Given the description of an element on the screen output the (x, y) to click on. 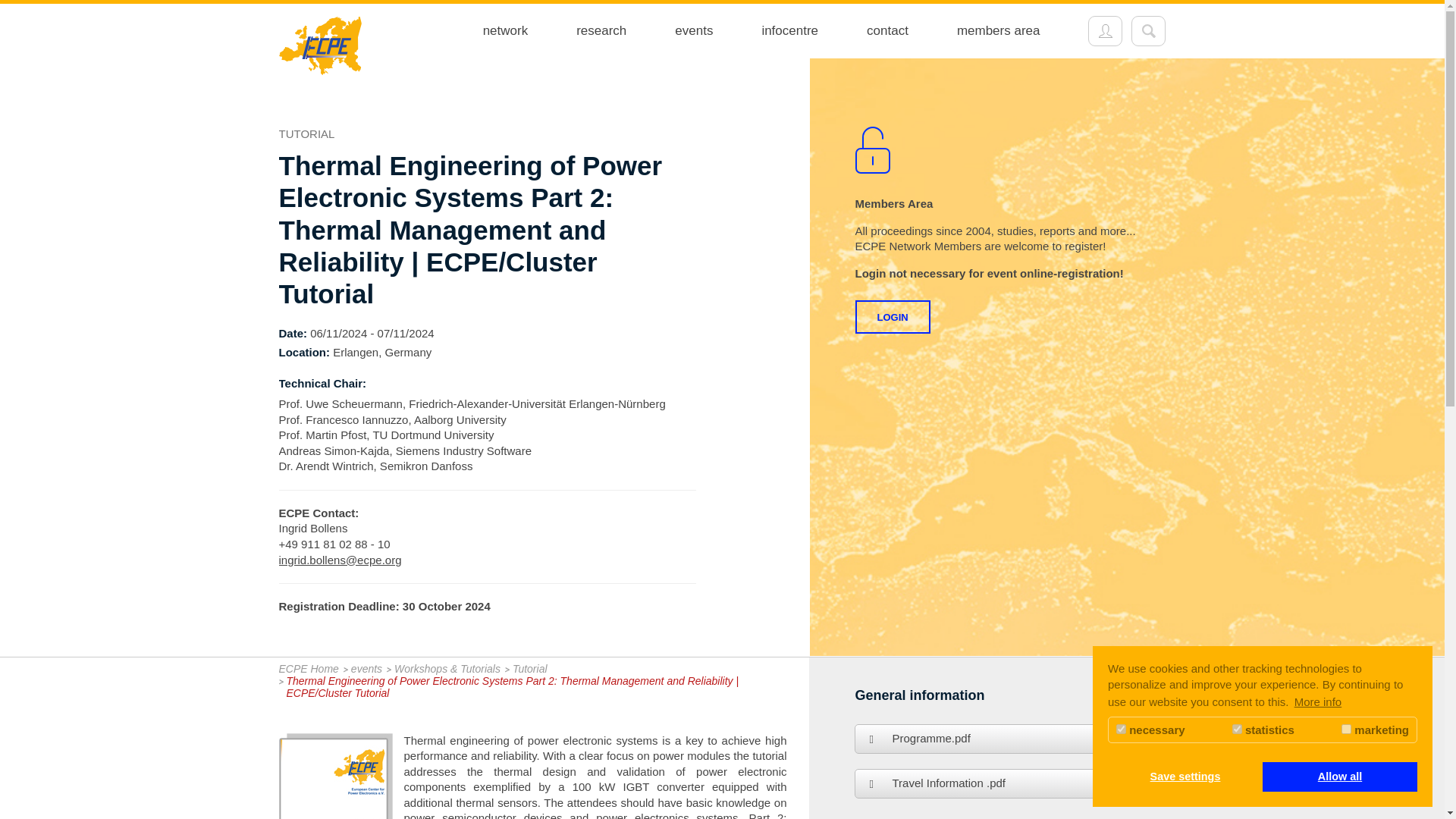
events (693, 31)
network (505, 31)
research (600, 31)
Allow all (1339, 776)
research (600, 31)
More info (1317, 702)
infocentre (789, 31)
network (505, 31)
Save settings (1185, 776)
b (1148, 30)
events (693, 31)
